Given the description of an element on the screen output the (x, y) to click on. 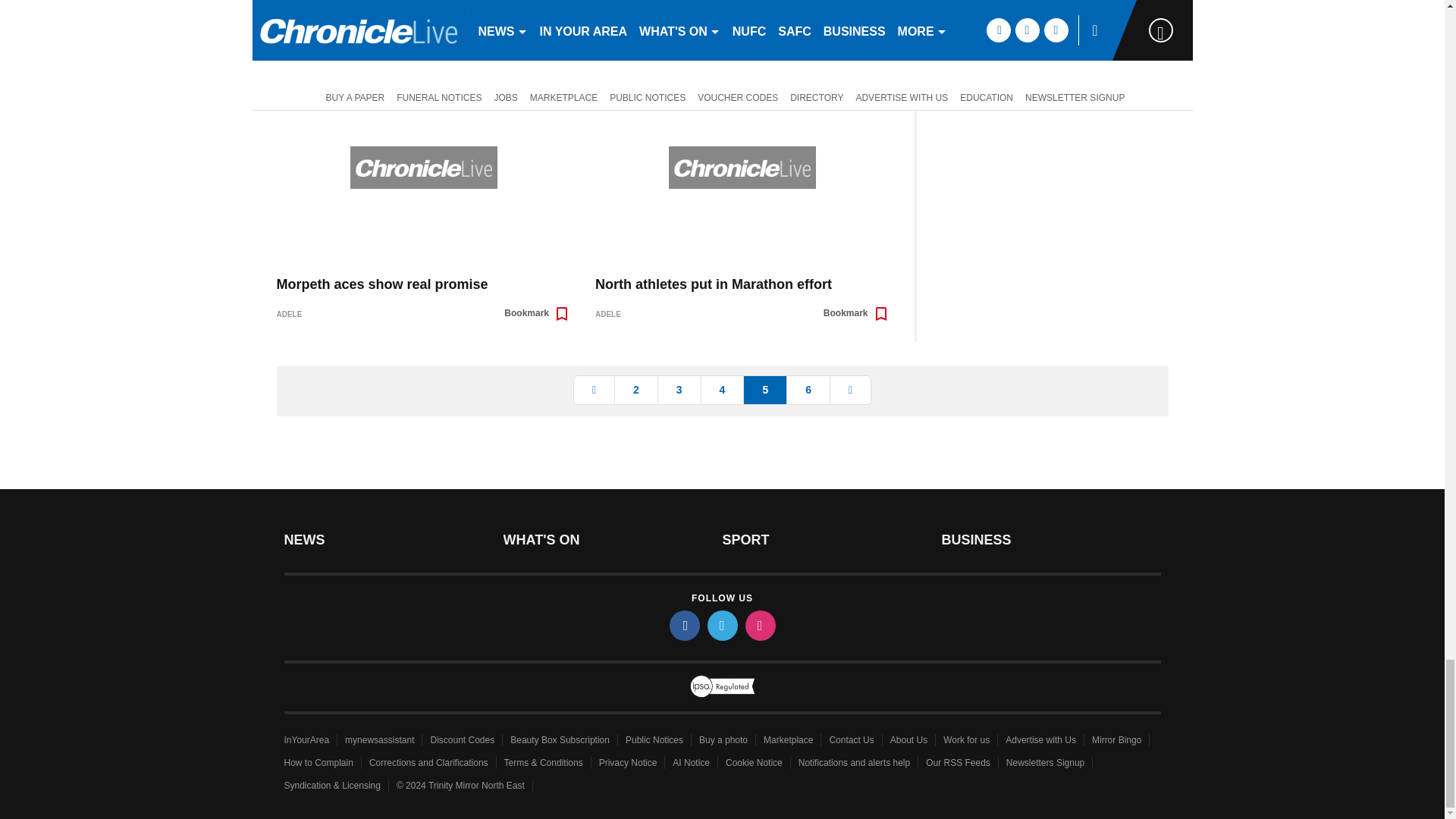
twitter (721, 625)
facebook (683, 625)
instagram (759, 625)
